Given the description of an element on the screen output the (x, y) to click on. 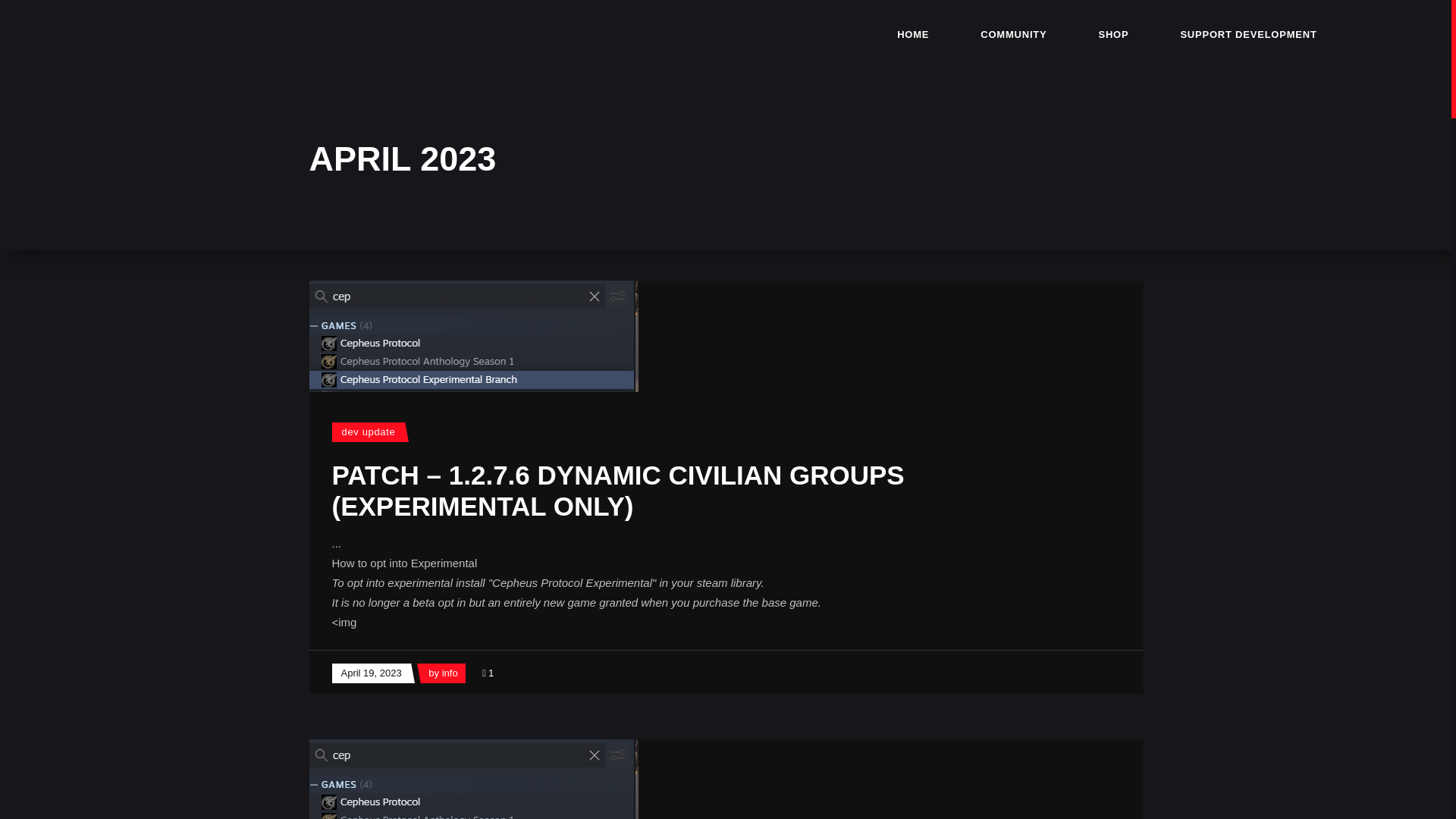
HOME (913, 33)
SHOP (1113, 33)
SUPPORT DEVELOPMENT (1248, 33)
Like this (487, 672)
COMMUNITY (1013, 33)
